Given the description of an element on the screen output the (x, y) to click on. 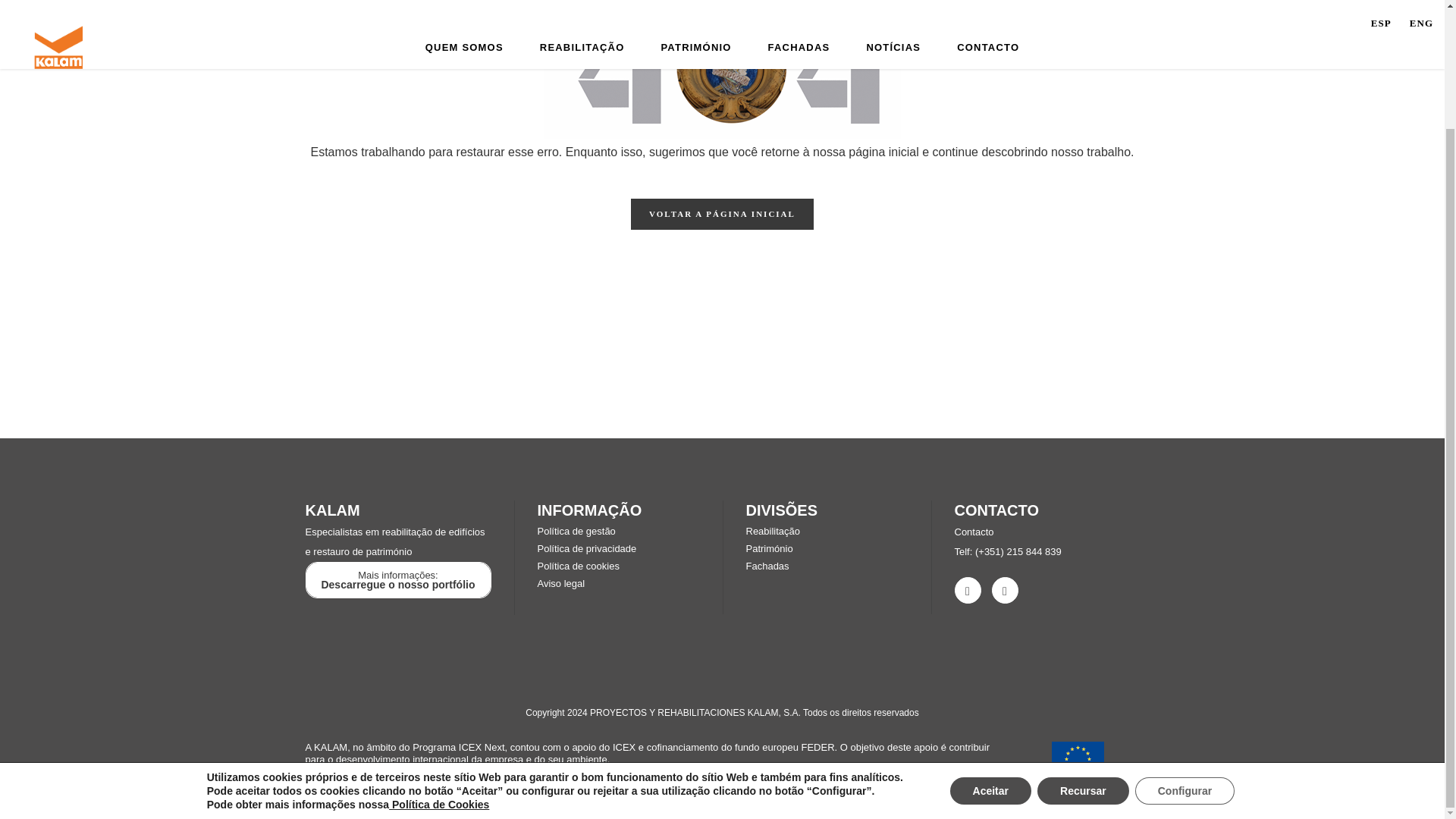
Aviso legal (561, 583)
vimeo (1004, 589)
Fachadas (767, 565)
Aceitar (990, 648)
Configurar (1184, 648)
Recursar (1082, 648)
Contacto (972, 531)
linkedin (966, 589)
